Given the description of an element on the screen output the (x, y) to click on. 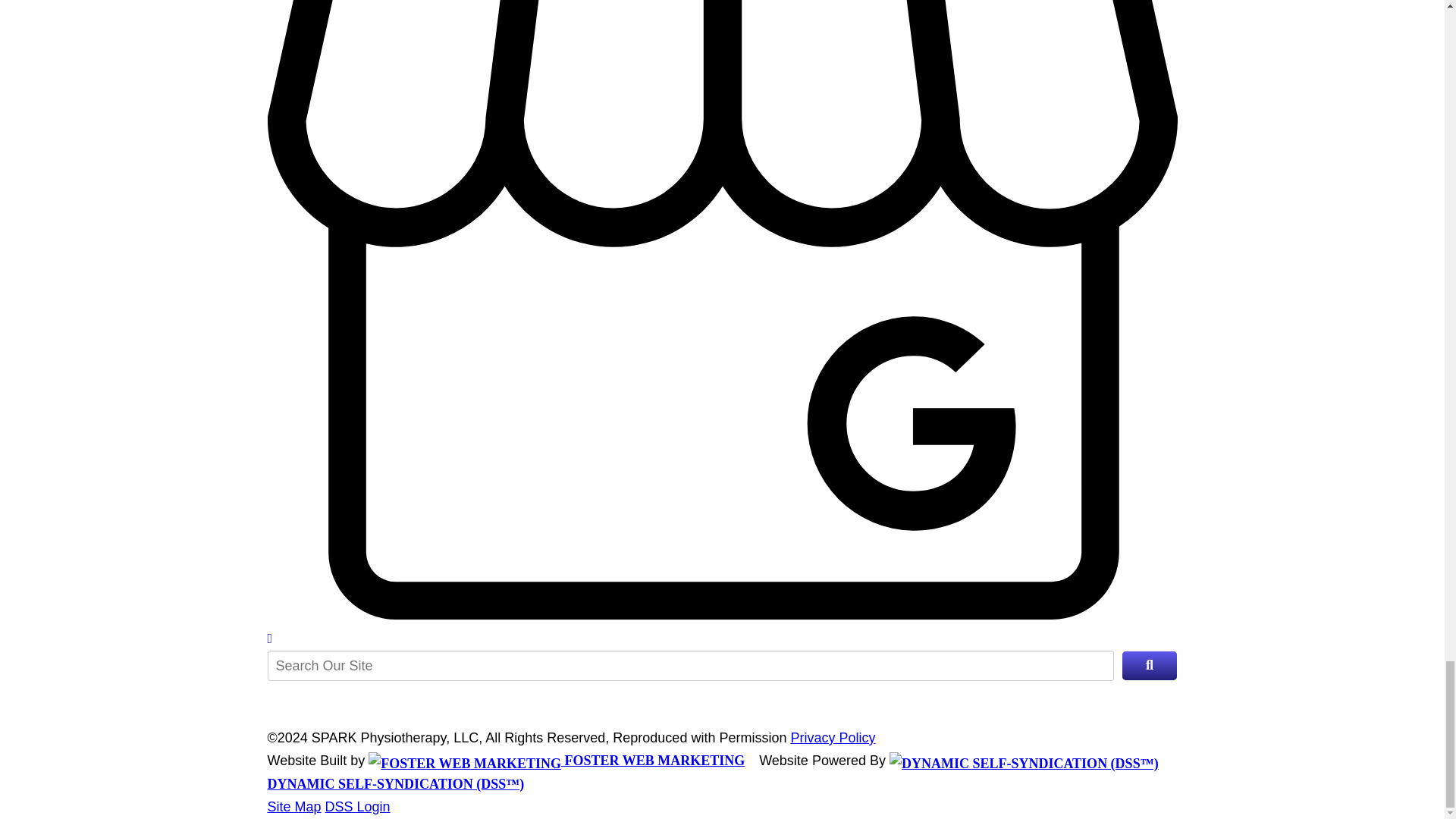
Search (1148, 665)
